Given the description of an element on the screen output the (x, y) to click on. 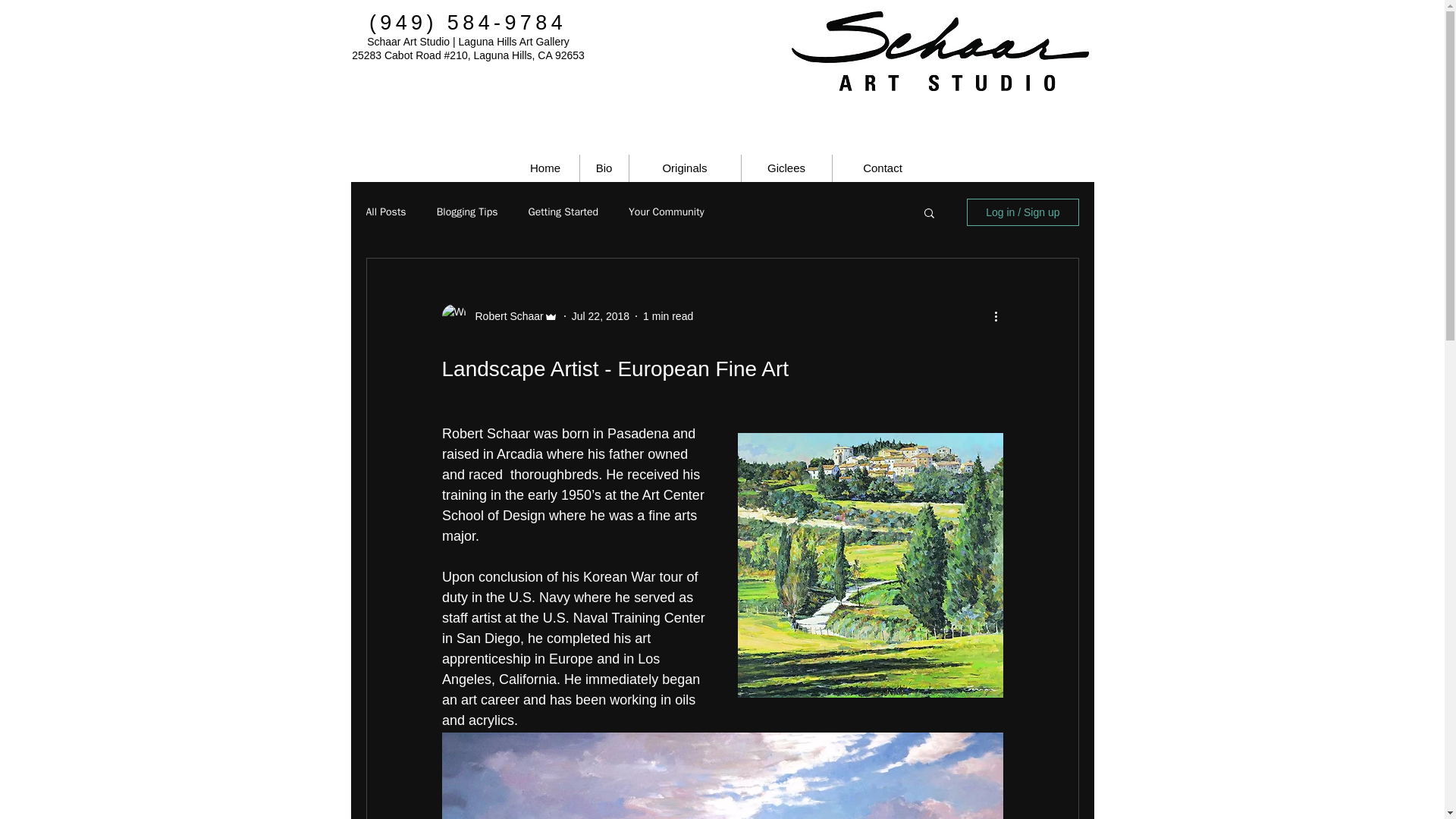
Bio (603, 167)
Your Community (666, 212)
All Posts (385, 212)
Robert Schaar (504, 315)
Contact (882, 167)
Getting Started (562, 212)
1 min read (668, 315)
Giclees (786, 167)
Blogging Tips (466, 212)
Originals (684, 167)
Home (544, 167)
Jul 22, 2018 (600, 315)
